Given the description of an element on the screen output the (x, y) to click on. 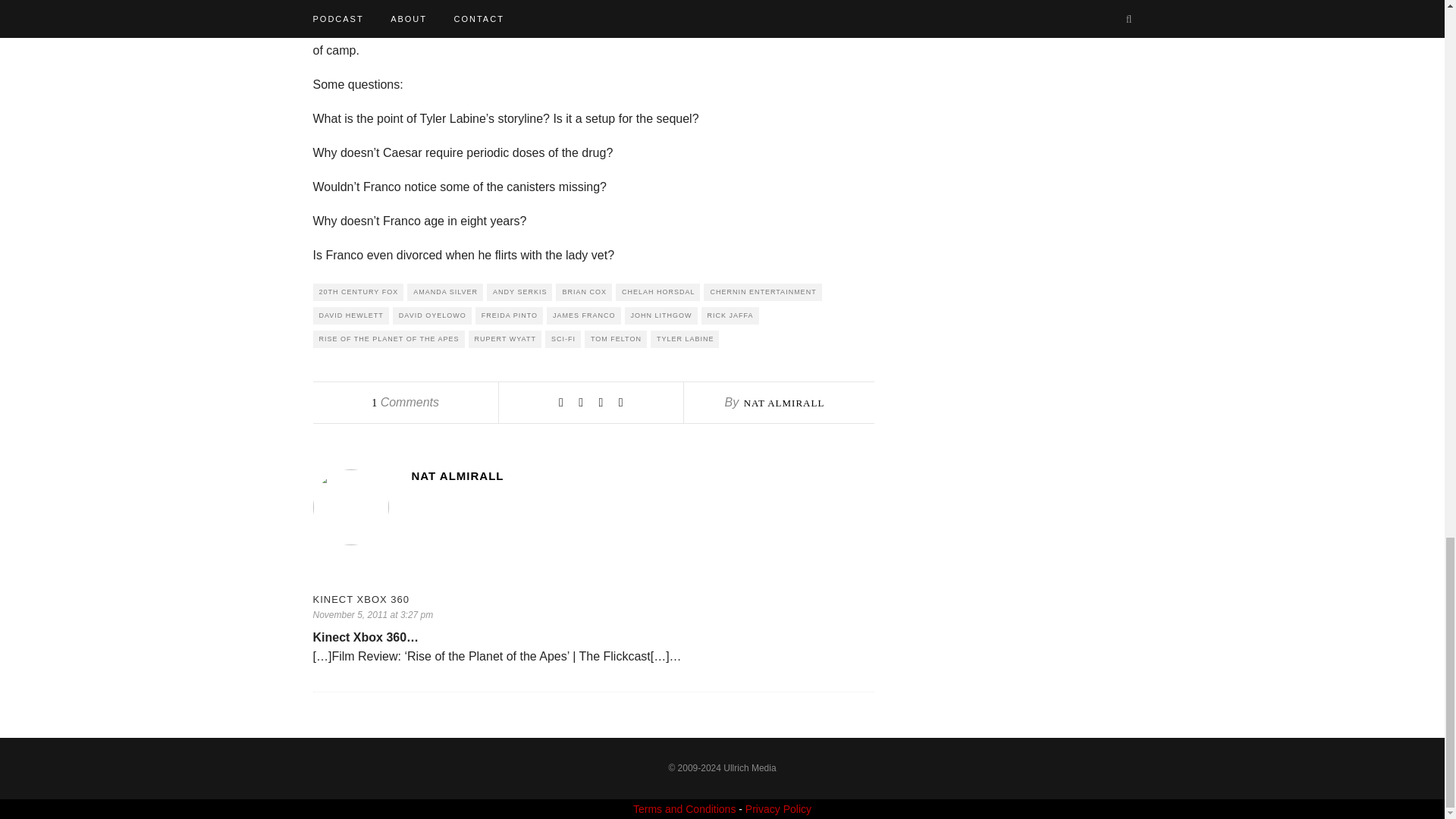
DAVID OYELOWO (432, 315)
NAT ALMIRALL (784, 402)
20TH CENTURY FOX (358, 292)
CHELAH HORSDAL (657, 292)
FREIDA PINTO (509, 315)
RUPERT WYATT (504, 339)
KINECT XBOX 360 (593, 599)
AMANDA SILVER (445, 292)
BRIAN COX (583, 292)
CHERNIN ENTERTAINMENT (762, 292)
DAVID HEWLETT (350, 315)
NAT ALMIRALL (641, 475)
1 Comments (405, 401)
JOHN LITHGOW (660, 315)
RICK JAFFA (729, 315)
